Given the description of an element on the screen output the (x, y) to click on. 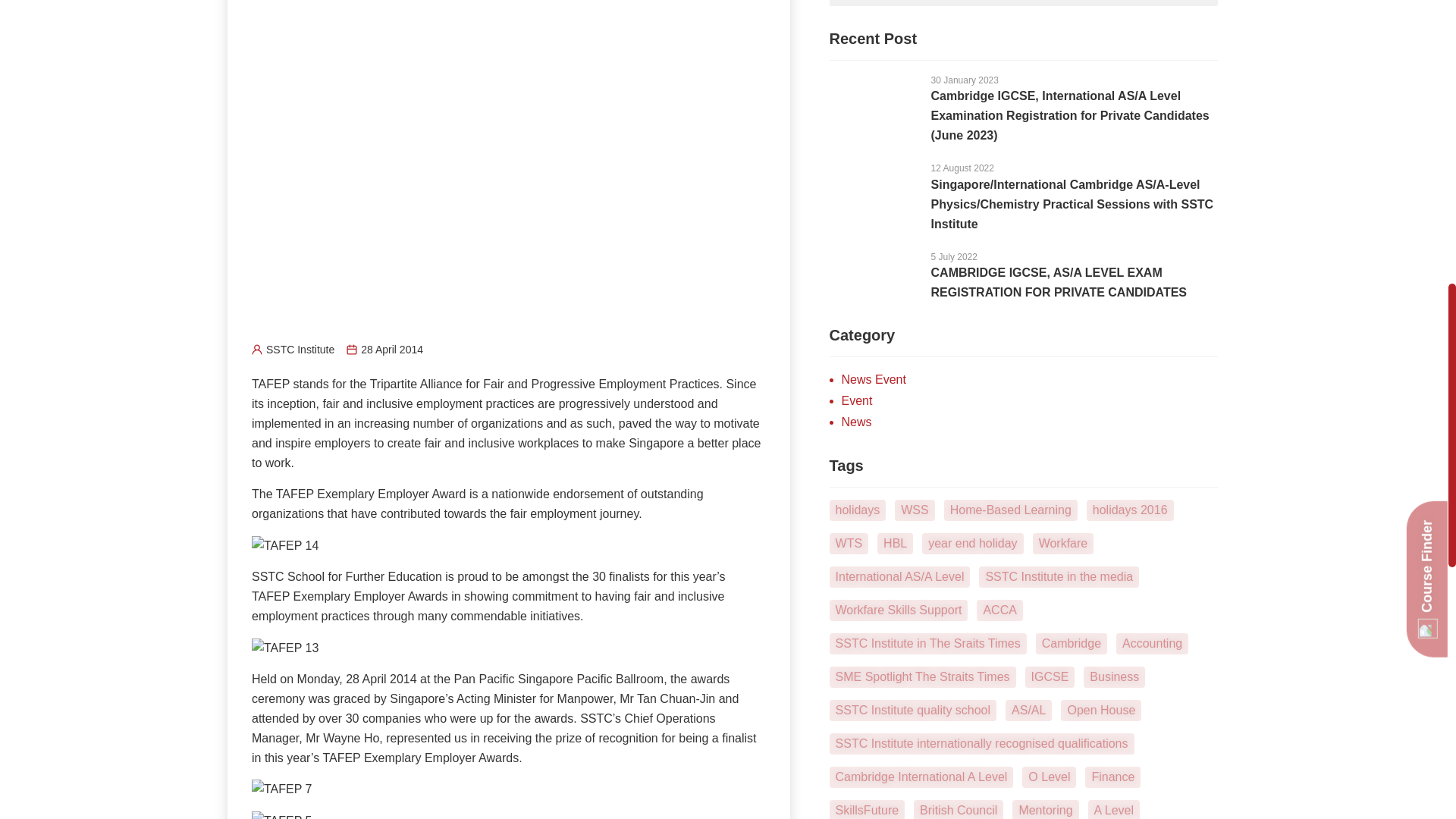
Search (1198, 2)
Search (1004, 2)
